Given the description of an element on the screen output the (x, y) to click on. 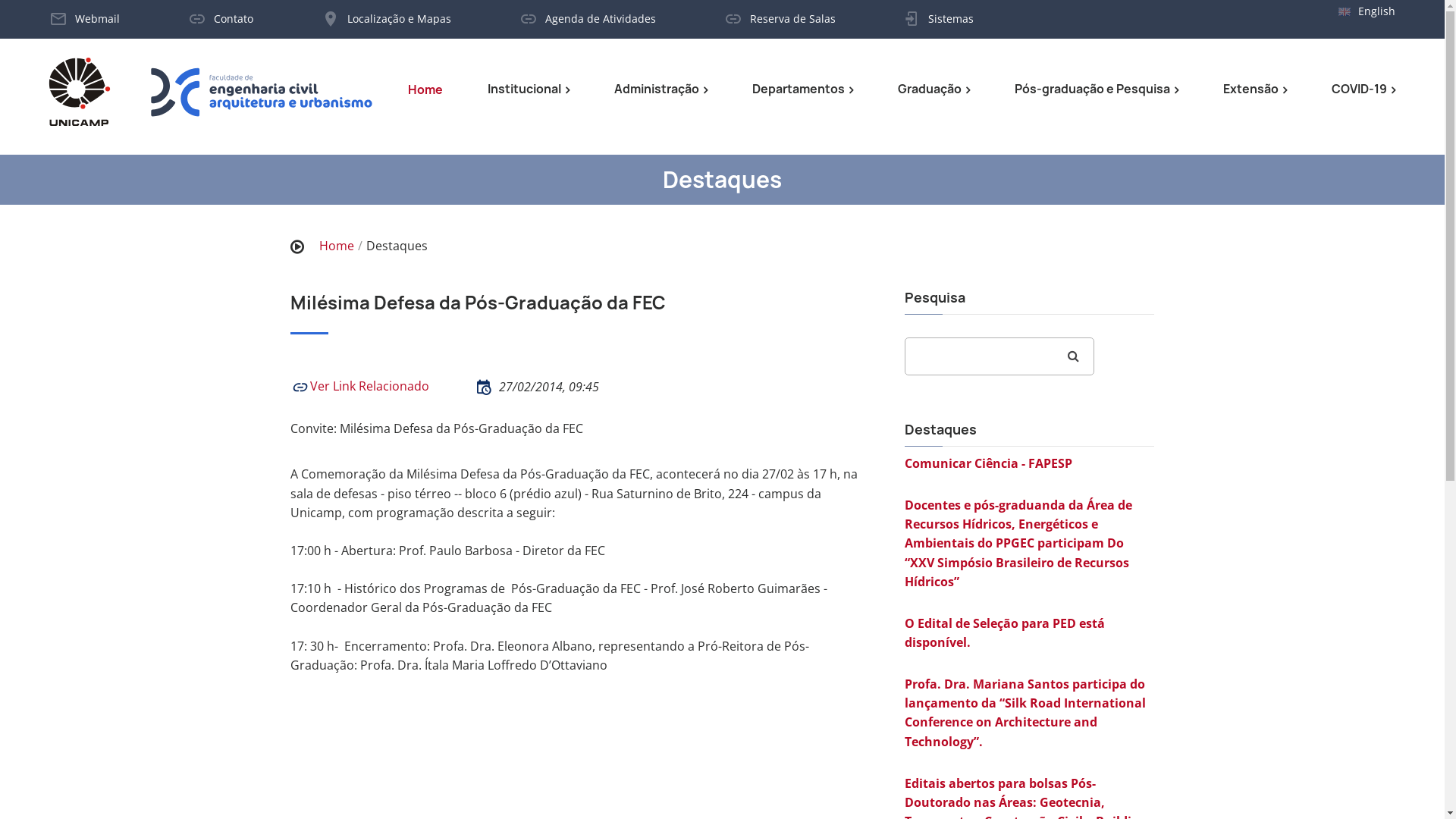
Ver Link Relacionado Element type: text (358, 385)
Departamentos Element type: text (802, 89)
Webmail Element type: text (97, 18)
COVID-19 Element type: text (1363, 89)
English Element type: text (1376, 10)
Institucional Element type: text (528, 89)
Agenda de Atividades Element type: text (600, 18)
Sistemas Element type: text (950, 18)
Home Element type: text (335, 245)
Contato Element type: text (233, 18)
Reserva de Salas Element type: text (792, 18)
Home Element type: text (424, 89)
